Given the description of an element on the screen output the (x, y) to click on. 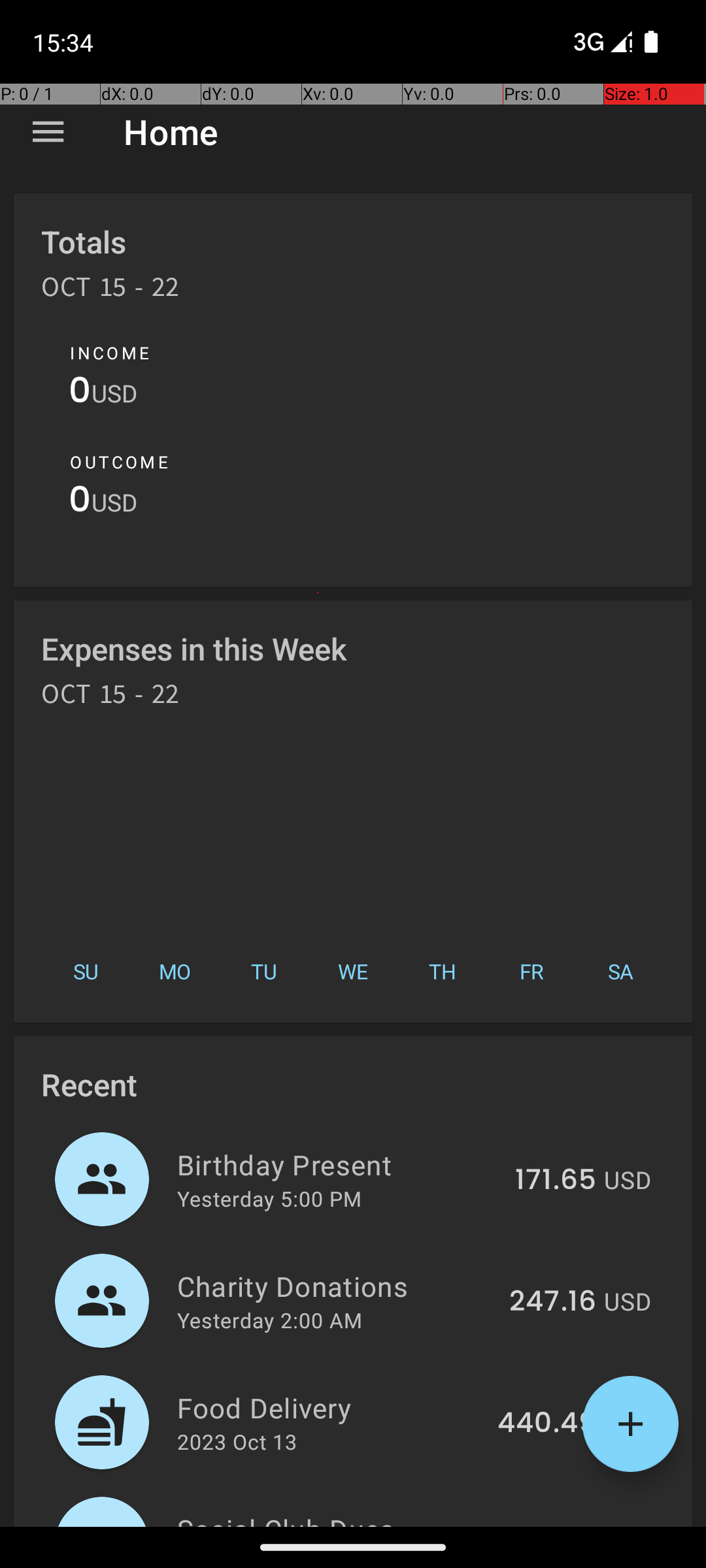
Birthday Present Element type: android.widget.TextView (338, 1164)
Yesterday 5:00 PM Element type: android.widget.TextView (269, 1198)
171.65 Element type: android.widget.TextView (555, 1180)
Charity Donations Element type: android.widget.TextView (335, 1285)
Yesterday 2:00 AM Element type: android.widget.TextView (269, 1320)
247.16 Element type: android.widget.TextView (552, 1301)
Food Delivery Element type: android.widget.TextView (329, 1407)
440.49 Element type: android.widget.TextView (546, 1423)
Social Club Dues Element type: android.widget.TextView (332, 1518)
373.43 Element type: android.widget.TextView (549, 1524)
